Given the description of an element on the screen output the (x, y) to click on. 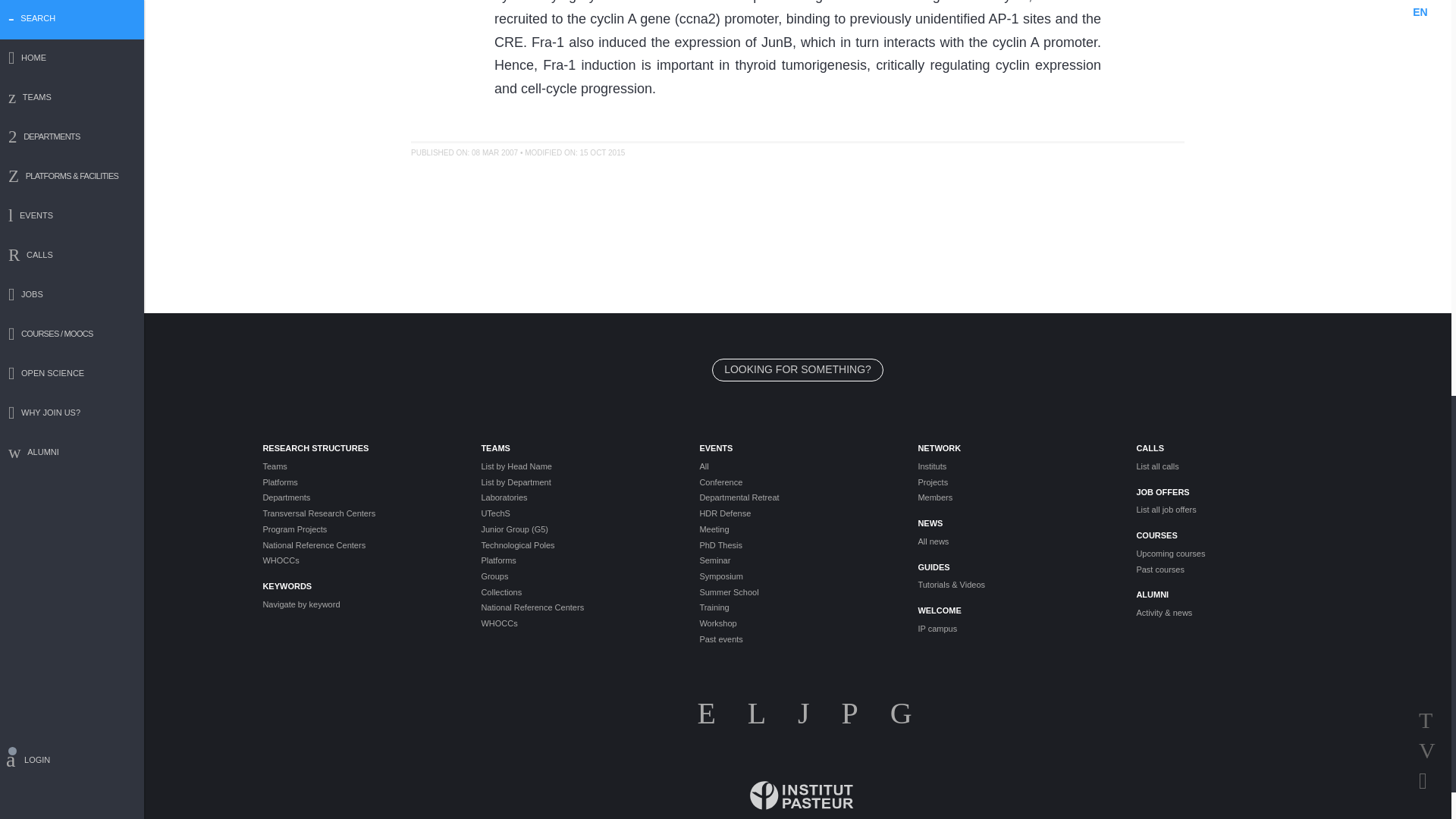
Departments (360, 497)
Platforms (360, 482)
Teams (360, 466)
Program Projects (360, 529)
Transversal Research Centers (360, 513)
